Given the description of an element on the screen output the (x, y) to click on. 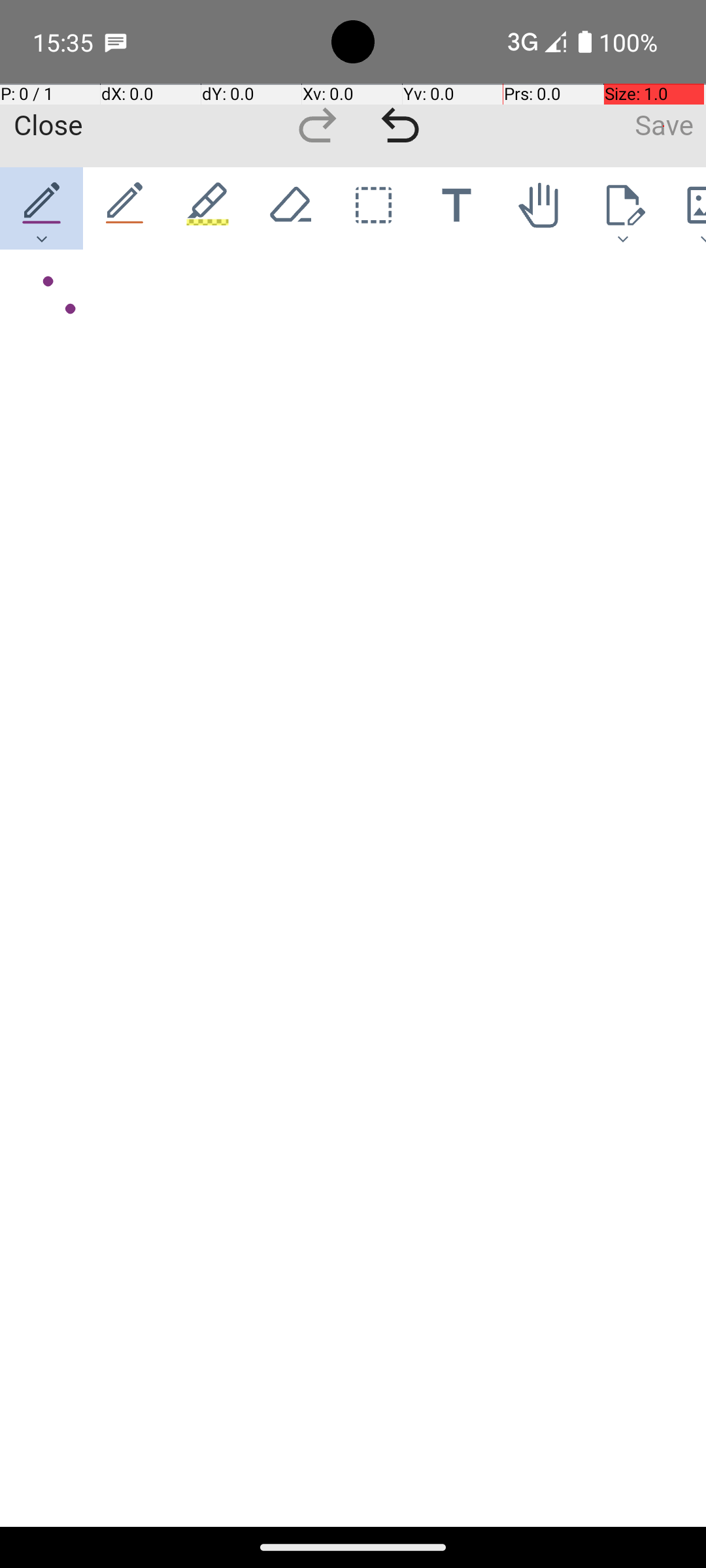
Added Stroke. Element type: android.widget.TextView (42, 281)
Re-render as text Element type: android.widget.Button (47, 308)
Enable sound-based exploration Element type: android.widget.Button (70, 309)
Pen 1 Element type: android.widget.ToggleButton (41, 208)
Pen 2 Element type: android.widget.Button (125, 208)
Pen 3 Element type: android.widget.Button (207, 208)
Eraser Element type: android.widget.Button (290, 208)
Select Element type: android.widget.Button (373, 208)
Text Element type: android.widget.Button (455, 208)
Pan Element type: android.widget.Button (540, 208)
Page Element type: android.widget.Button (622, 208)
